Given the description of an element on the screen output the (x, y) to click on. 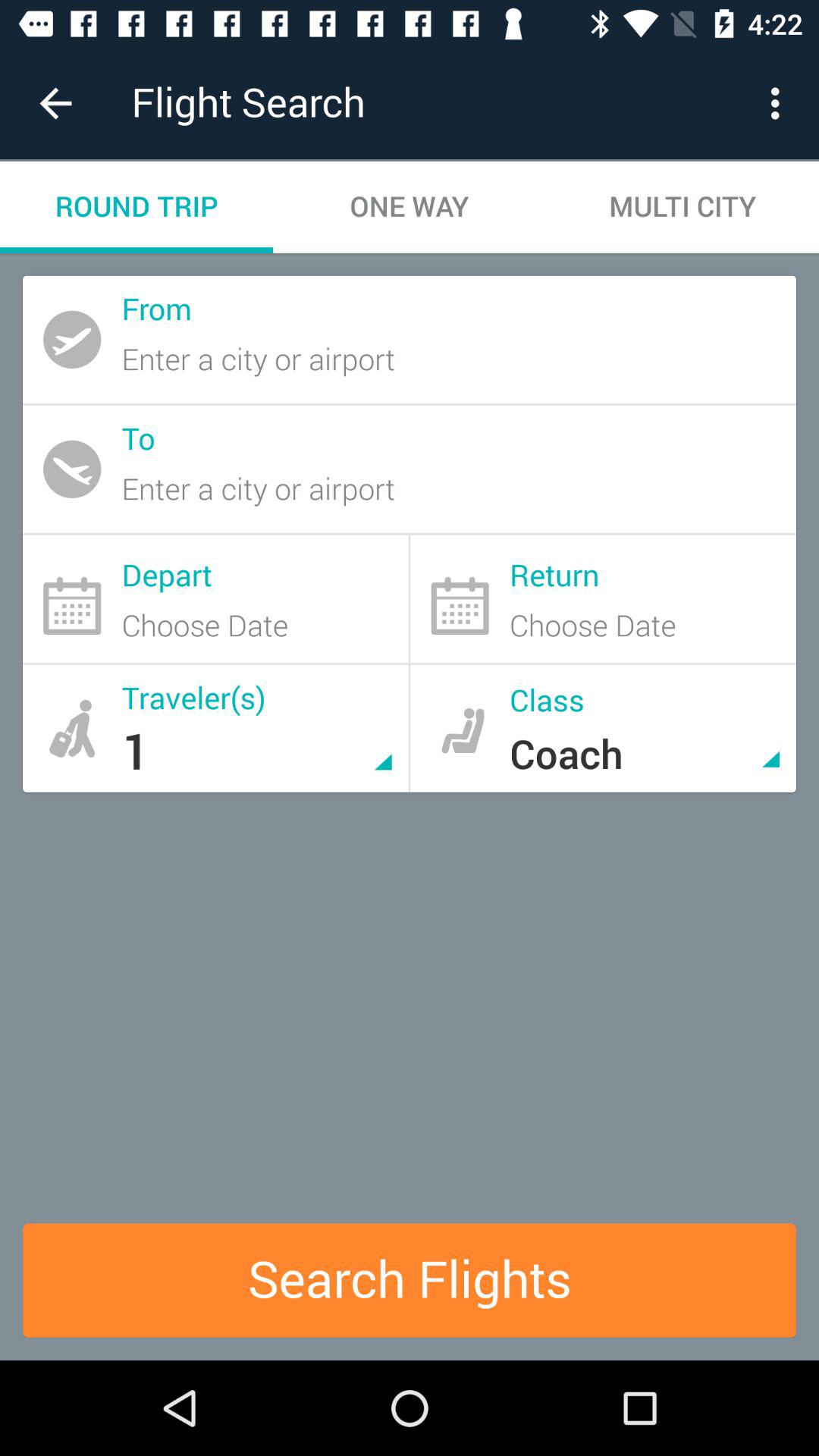
choose item to the right of the one way icon (779, 103)
